Given the description of an element on the screen output the (x, y) to click on. 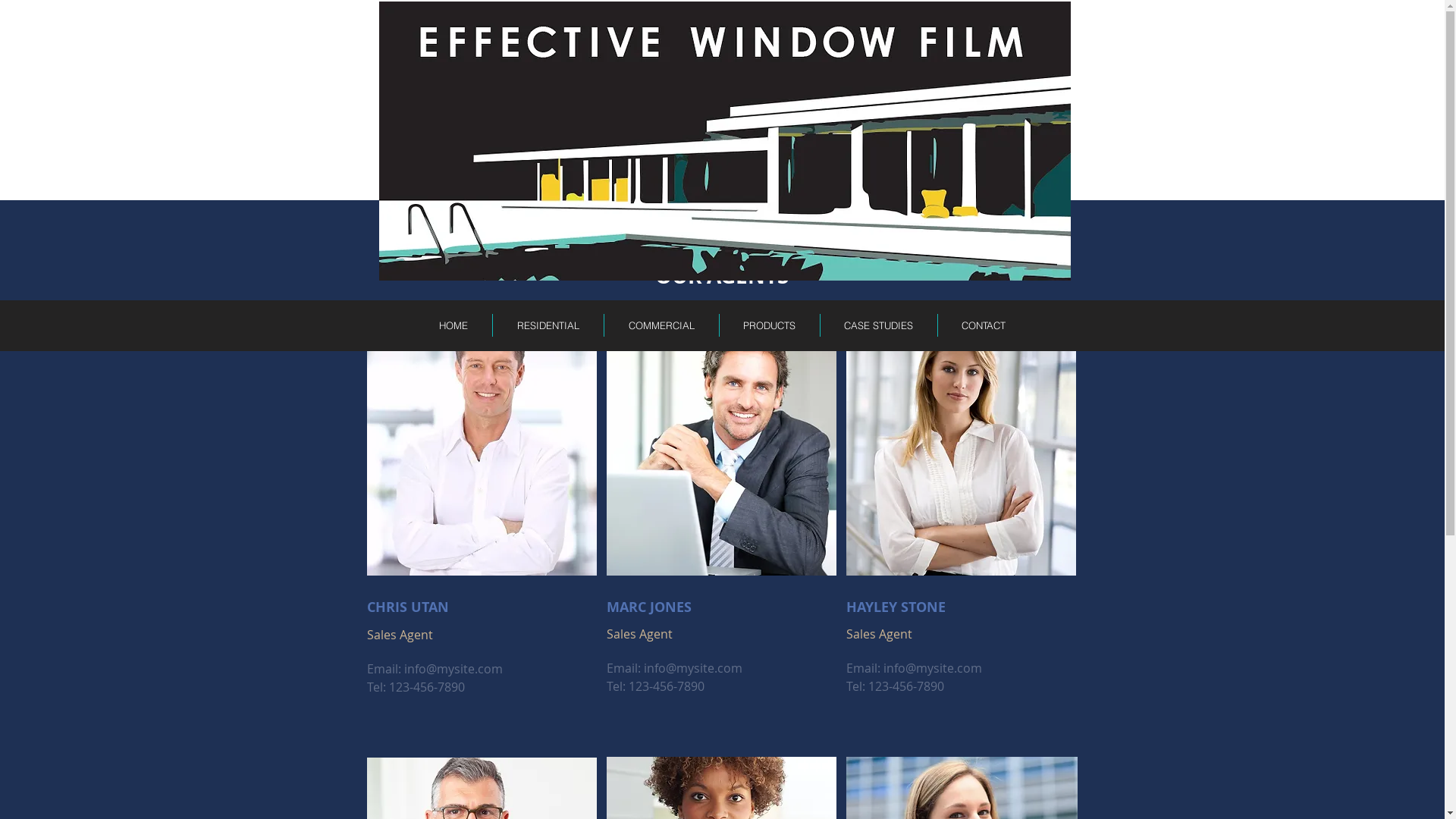
HOME Element type: text (452, 324)
info@mysite.com Element type: text (452, 668)
CONTACT Element type: text (983, 324)
CASE STUDIES Element type: text (878, 324)
PRODUCTS Element type: text (768, 324)
COMMERCIAL Element type: text (660, 324)
info@mysite.com Element type: text (692, 667)
info@mysite.com Element type: text (931, 667)
RESIDENTIAL Element type: text (547, 324)
